Given the description of an element on the screen output the (x, y) to click on. 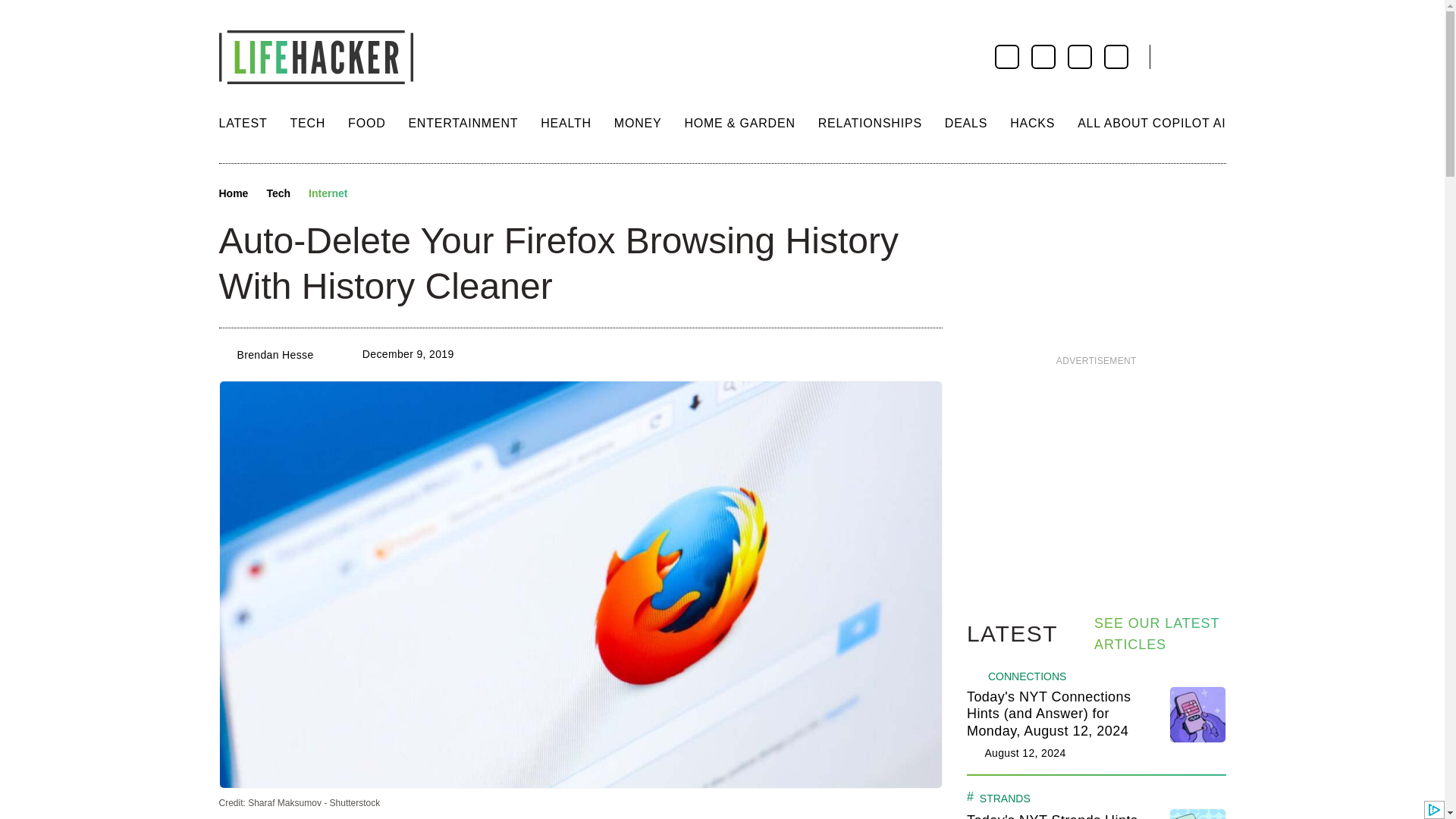
ALL ABOUT COPILOT AI (1151, 123)
Social Share (373, 193)
Home (232, 193)
HEALTH (565, 123)
RELATIONSHIPS (869, 123)
HACKS (1032, 123)
LATEST (242, 123)
MONEY (638, 123)
Tech (277, 193)
TECH (306, 123)
